Given the description of an element on the screen output the (x, y) to click on. 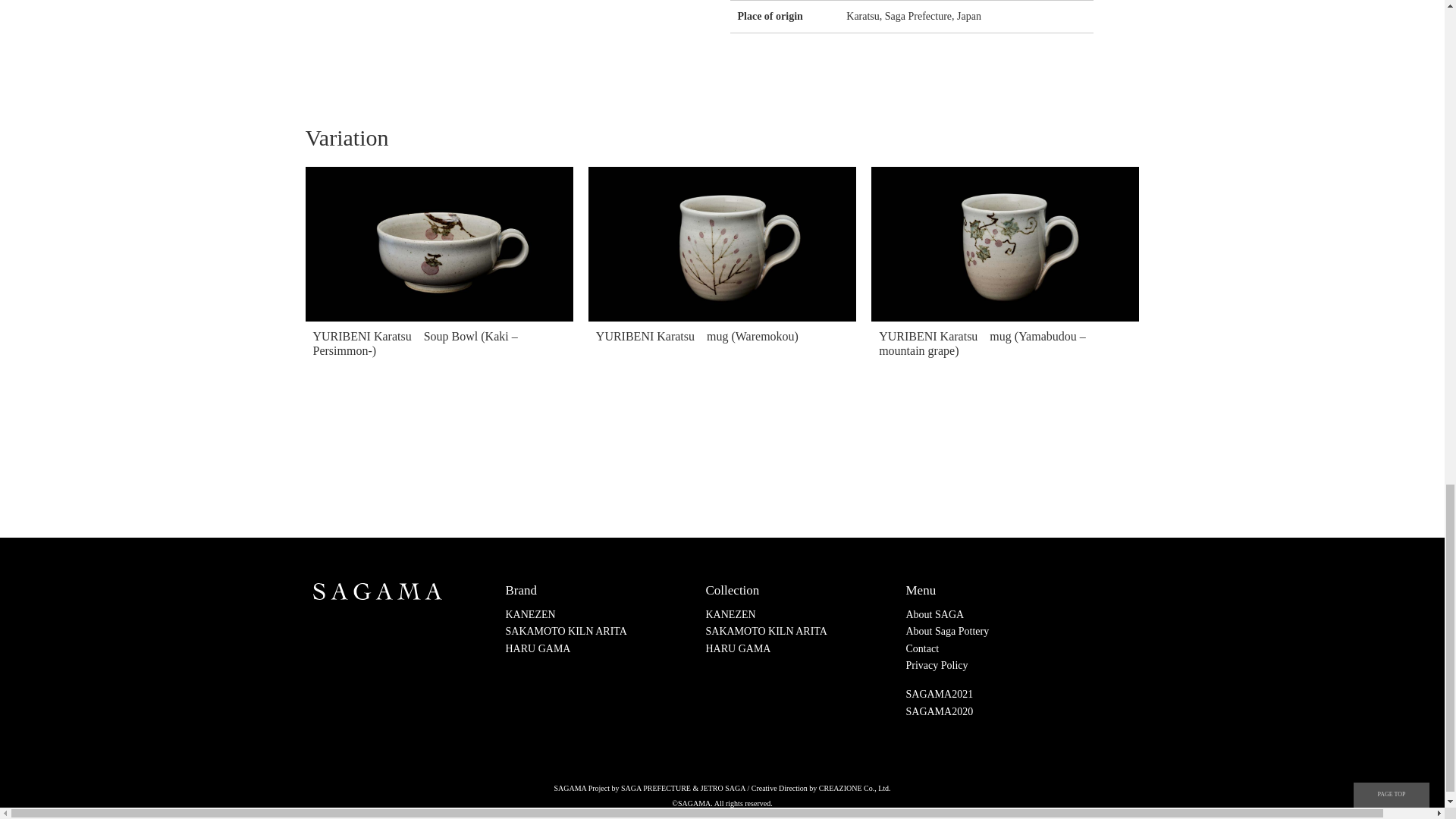
HARU GAMA (737, 648)
SAKAMOTO KILN ARITA (765, 631)
KANEZEN (729, 614)
KANEZEN (529, 614)
SAKAMOTO KILN ARITA (565, 631)
HARU GAMA (537, 648)
